Given the description of an element on the screen output the (x, y) to click on. 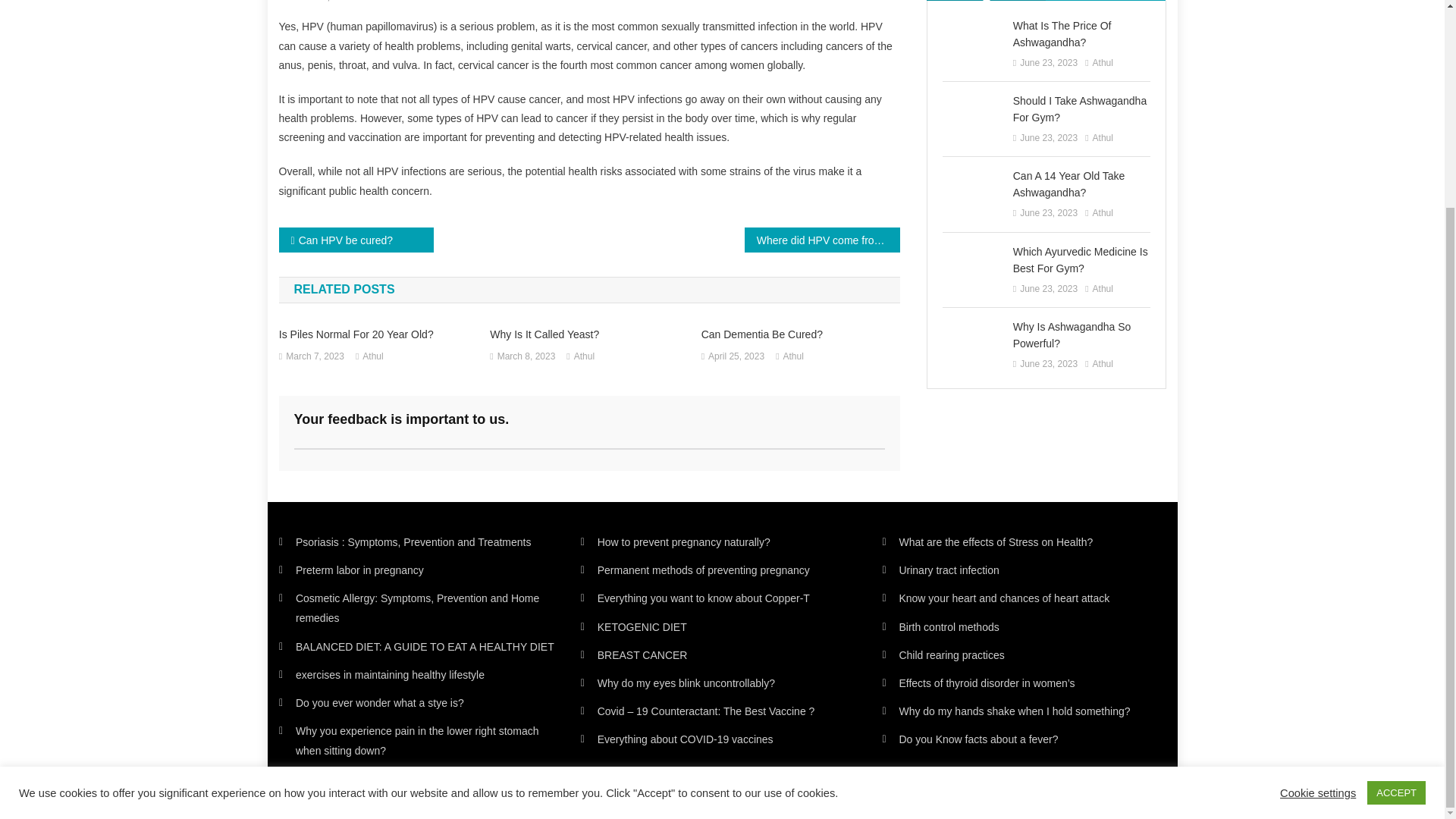
Is Piles Normal For 20 Year Old? (378, 334)
Why Is It Called Yeast? (456, 1)
Where did HPV come from? (588, 334)
Athul (821, 239)
Can Dementia Be Cured? (583, 356)
Athul (800, 334)
March 13, 2023 (385, 1)
March 8, 2023 (319, 1)
Can HPV be cured? (526, 356)
April 25, 2023 (356, 239)
March 7, 2023 (735, 356)
Athul (314, 356)
What Is The Price Of Ashwagandha? (372, 356)
